Given the description of an element on the screen output the (x, y) to click on. 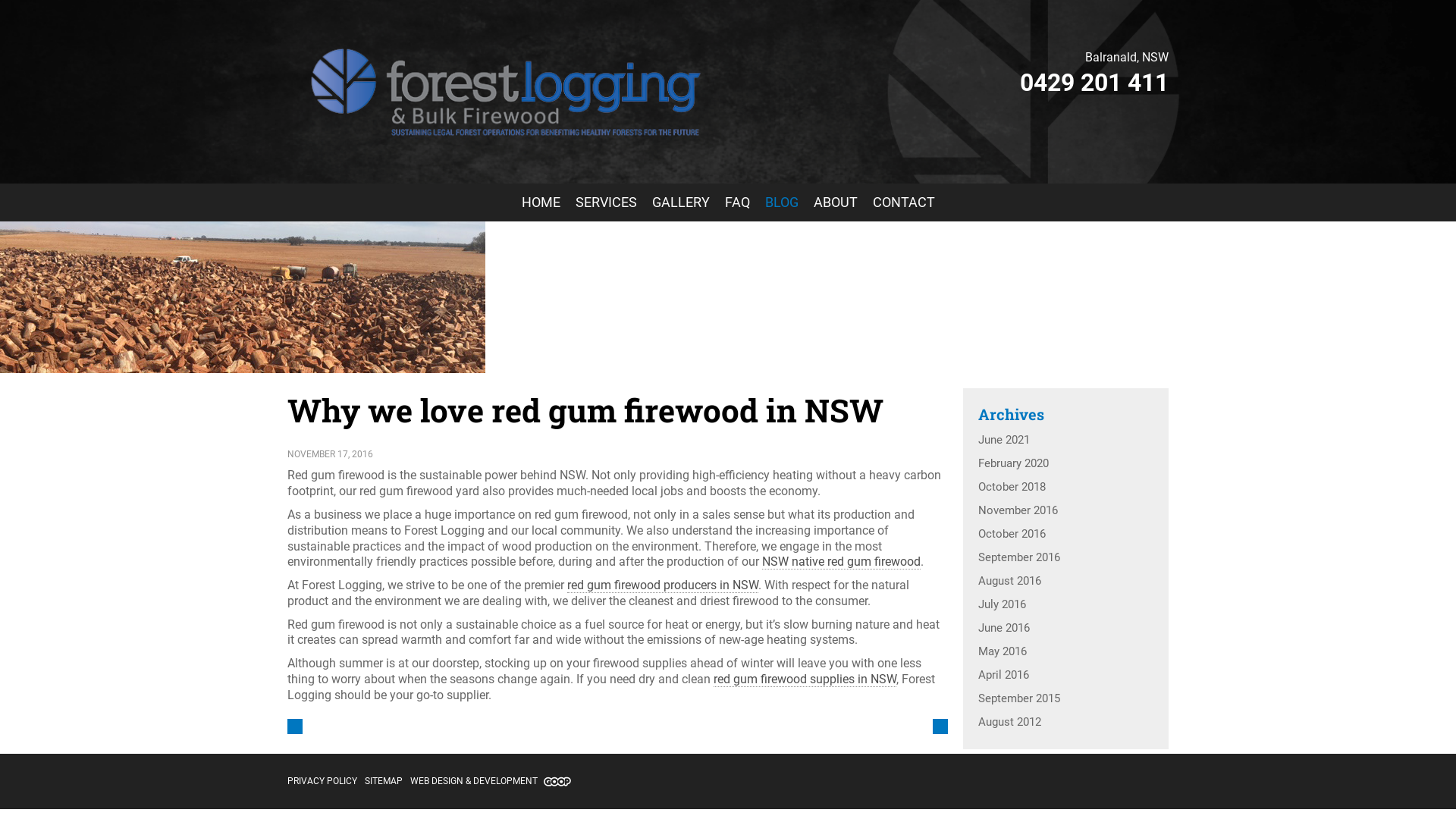
June 2021 Element type: text (1065, 439)
September 2016 Element type: text (1065, 557)
ABOUT Element type: text (834, 202)
red gum firewood supplies in NSW Element type: text (804, 679)
FAQ Element type: text (736, 202)
August 2016 Element type: text (1065, 581)
October 2018 Element type: text (1065, 486)
June 2016 Element type: text (1065, 628)
SITEMAP Element type: text (383, 781)
August 2012 Element type: text (1065, 722)
October 2016 Element type: text (1065, 534)
GALLERY Element type: text (680, 202)
February 2020 Element type: text (1065, 463)
November 2016 Element type: text (1065, 510)
BLOG Element type: text (780, 202)
NSW native red gum firewood Element type: text (841, 561)
0429 201 411 Element type: text (1093, 82)
April 2016 Element type: text (1065, 675)
May 2016 Element type: text (1065, 651)
September 2015 Element type: text (1065, 698)
SERVICES Element type: text (605, 202)
July 2016 Element type: text (1065, 604)
CONTACT Element type: text (903, 202)
WEB DESIGN & DEVELOPMENT Element type: text (490, 781)
HOME Element type: text (540, 202)
red gum firewood producers in NSW Element type: text (662, 585)
PRIVACY POLICY Element type: text (322, 781)
